Given the description of an element on the screen output the (x, y) to click on. 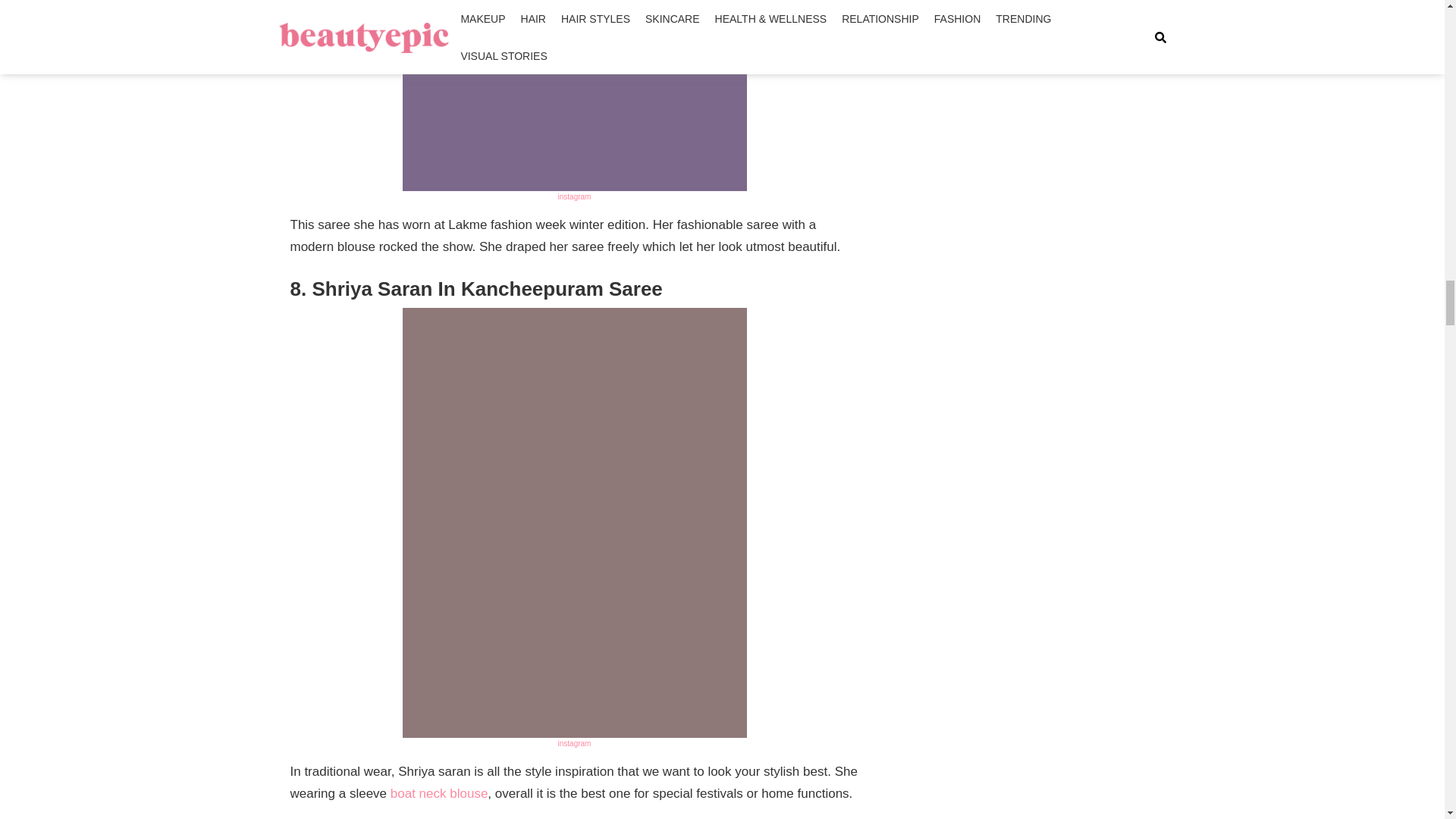
boat neck blouse (438, 793)
